Given the description of an element on the screen output the (x, y) to click on. 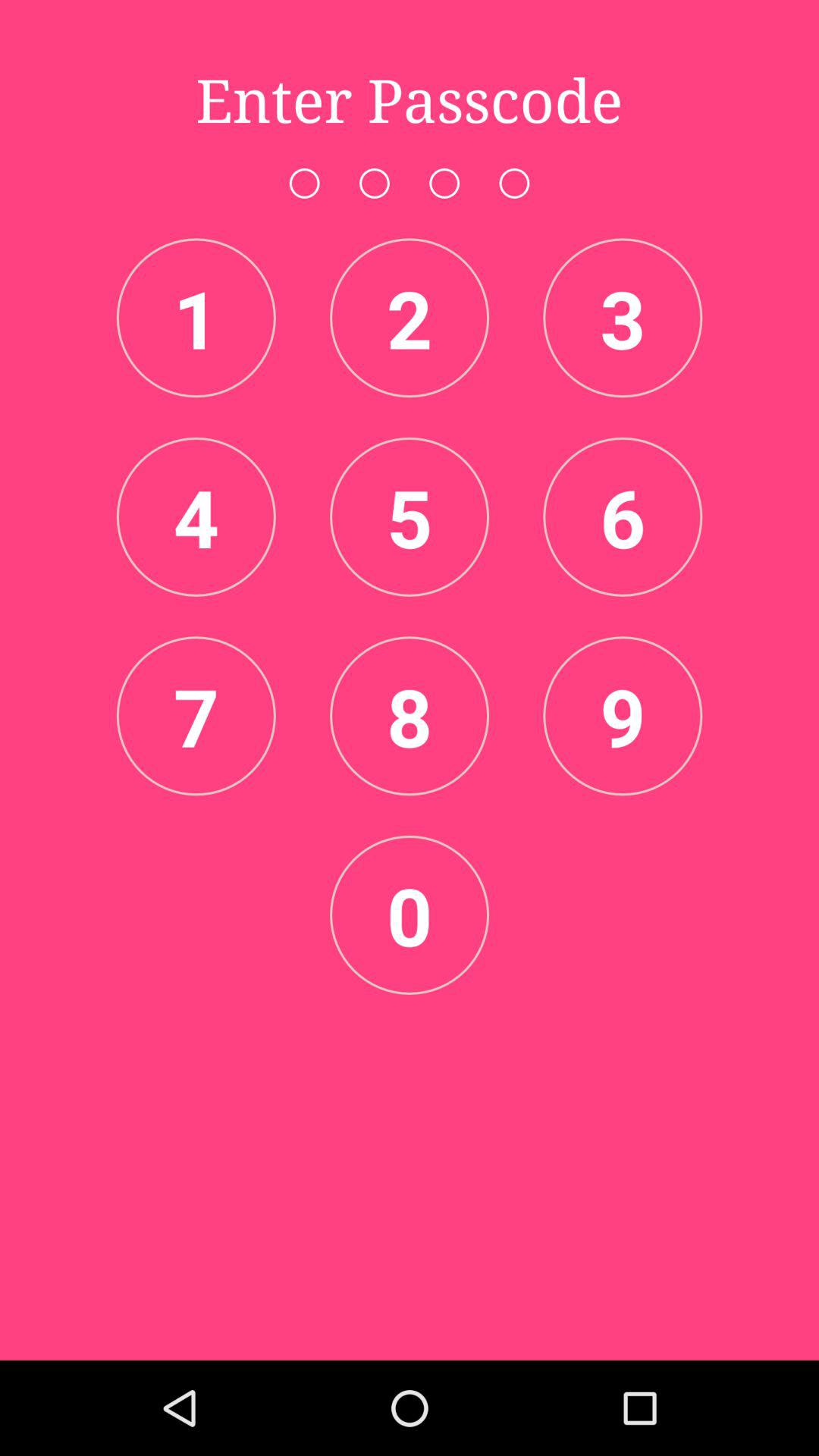
swipe to 5 item (409, 516)
